Given the description of an element on the screen output the (x, y) to click on. 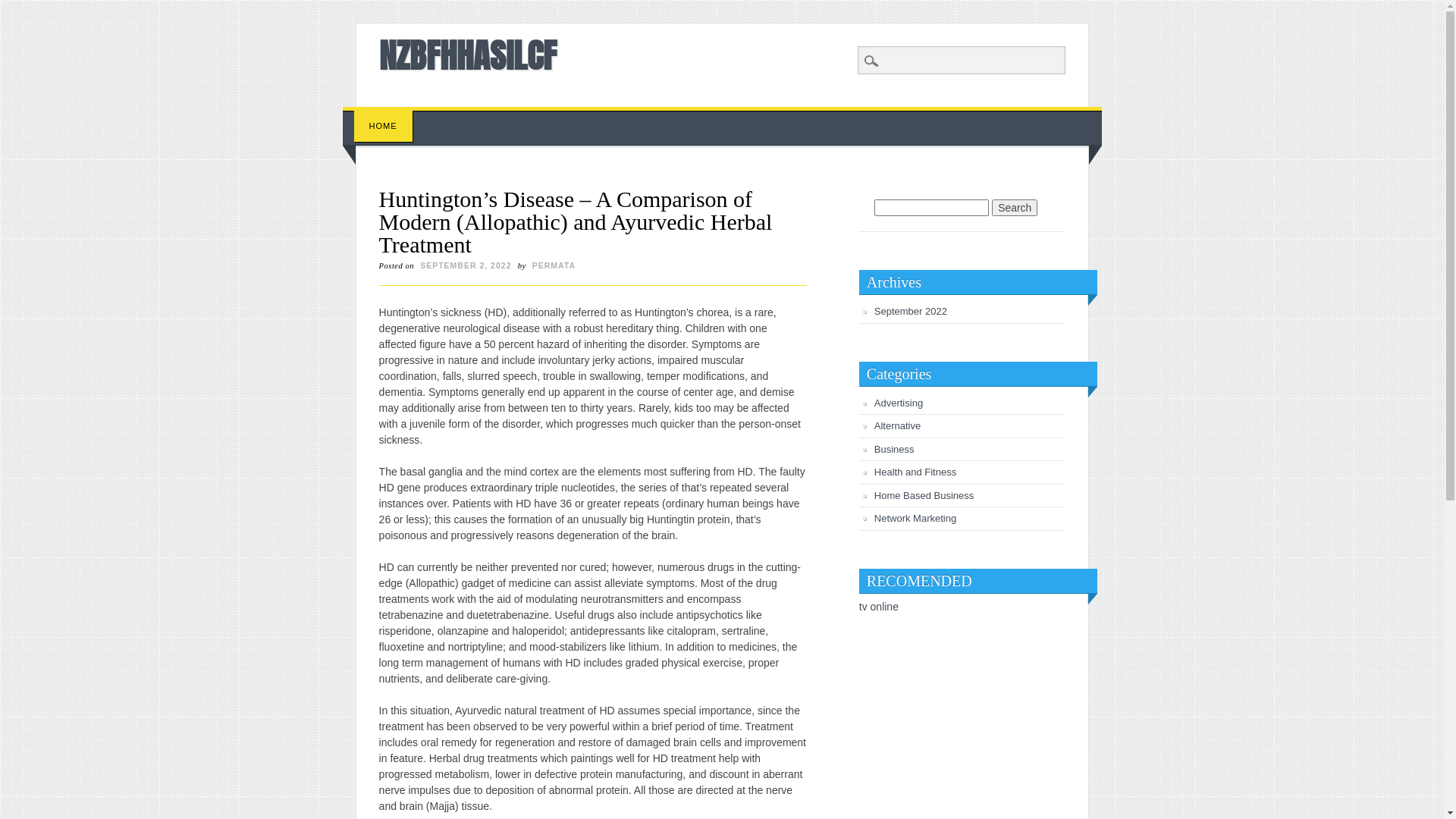
Business Element type: text (894, 449)
September 2022 Element type: text (910, 310)
Advertising Element type: text (898, 402)
NZBFHHASILCF Element type: text (467, 55)
Health and Fitness Element type: text (915, 471)
Search Element type: text (1014, 207)
SEPTEMBER 2, 2022 Element type: text (465, 264)
Search Element type: text (22, 8)
tv online Element type: text (878, 606)
Alternative Element type: text (897, 425)
Network Marketing Element type: text (915, 518)
Skip to content Element type: text (377, 114)
Home Based Business Element type: text (924, 495)
HOME Element type: text (383, 125)
PERMATA Element type: text (553, 264)
